Given the description of an element on the screen output the (x, y) to click on. 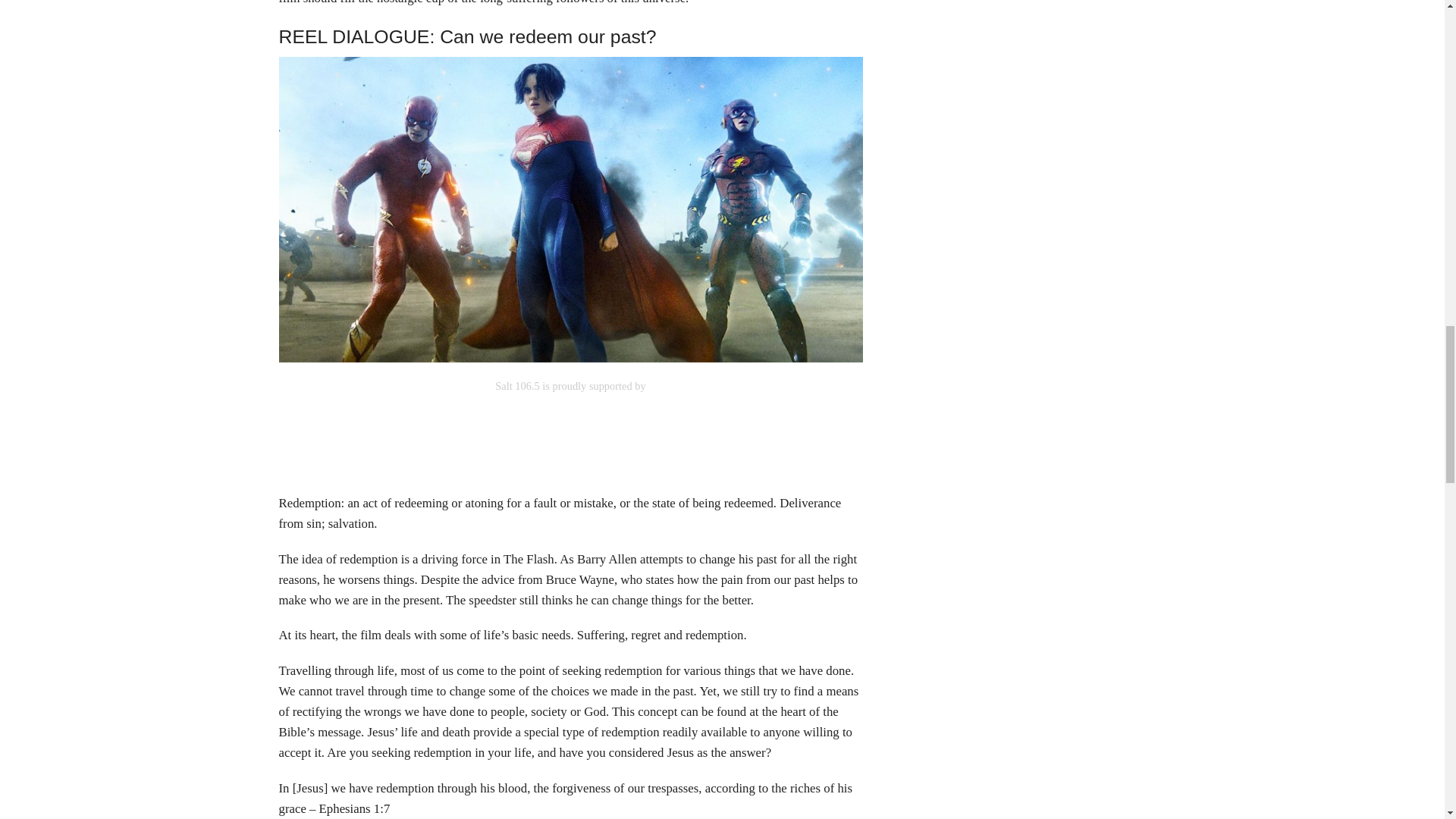
3rd party ad content (569, 428)
